Given the description of an element on the screen output the (x, y) to click on. 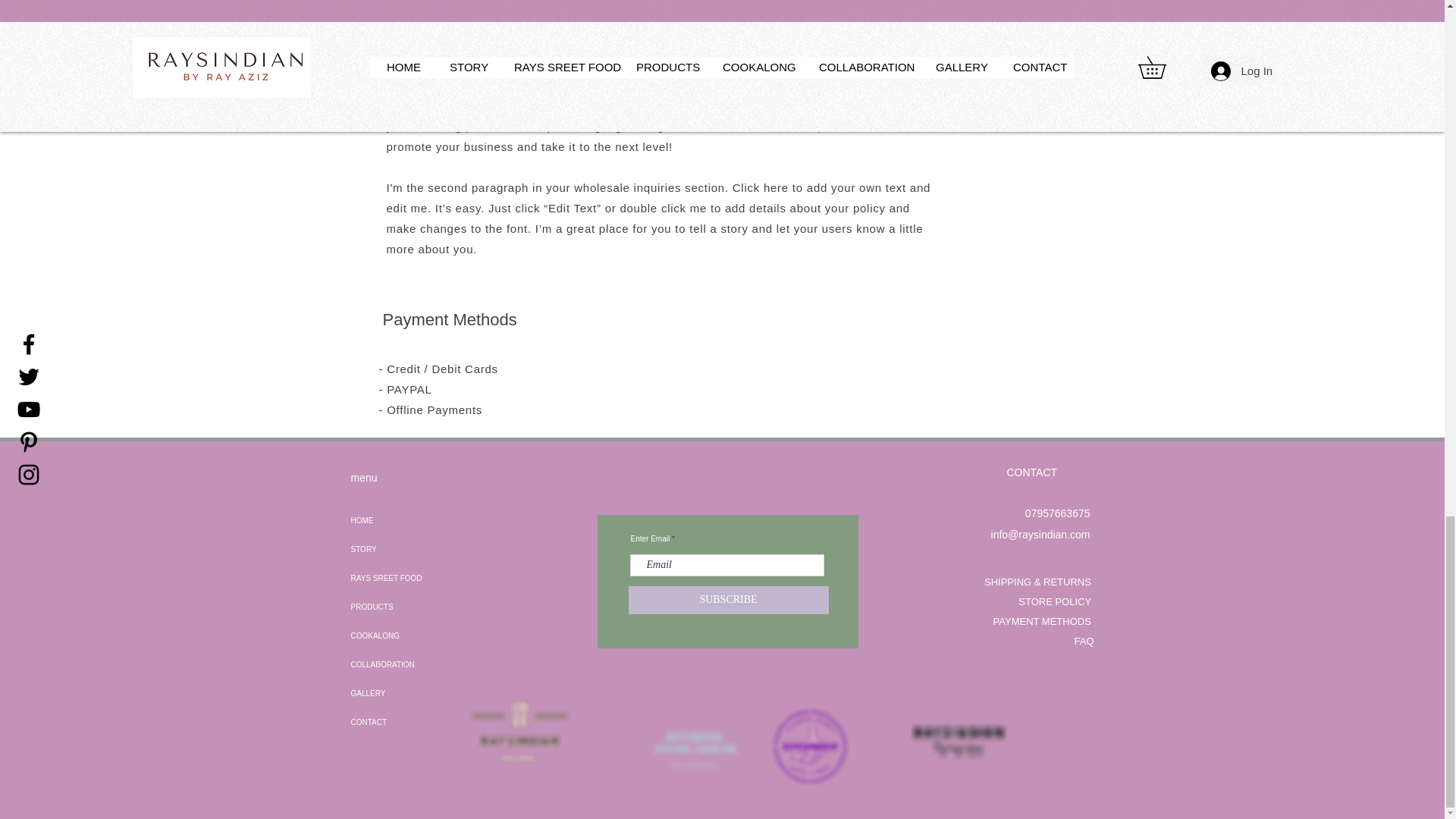
CONTACT (392, 722)
STORY (392, 549)
curry kit (809, 747)
RAYS SREET FOOD (392, 578)
GALLERY (392, 693)
COLLABORATION (392, 664)
PAYMENT METHODS (1041, 621)
HOME (392, 520)
FAQ (1083, 641)
SUBSCRIBE (727, 600)
